Given the description of an element on the screen output the (x, y) to click on. 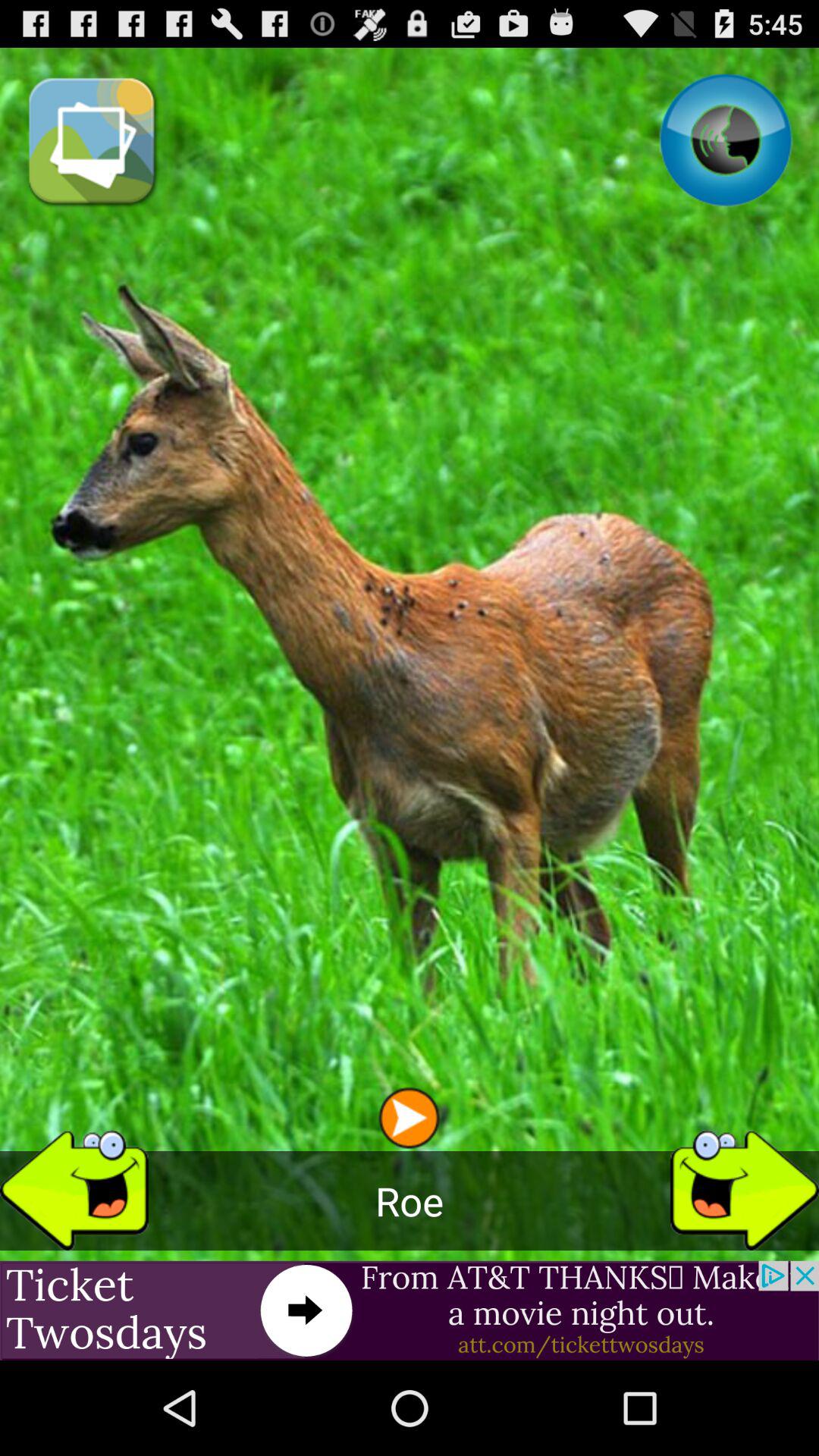
turn off the item at the center (409, 703)
